Given the description of an element on the screen output the (x, y) to click on. 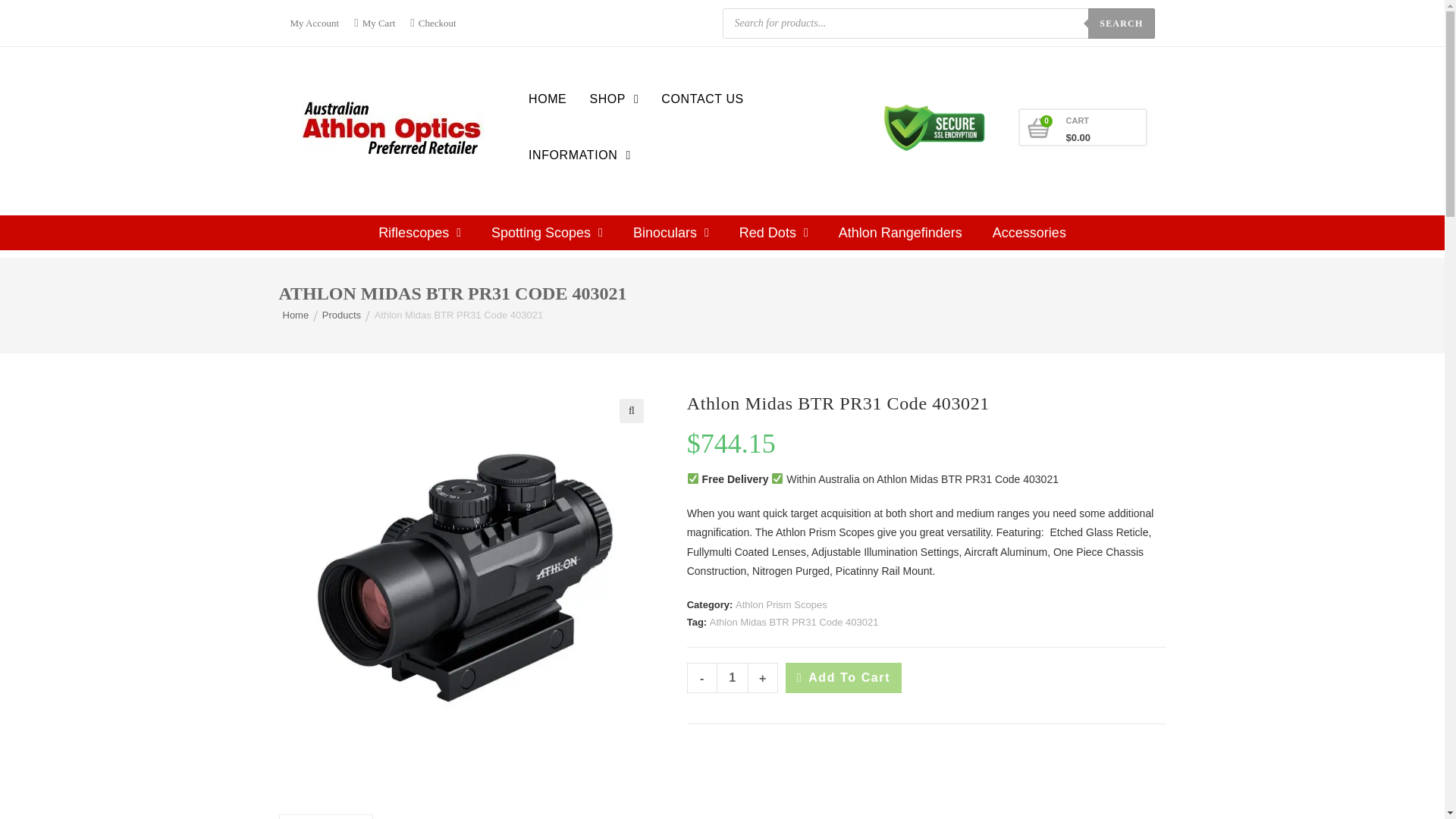
1 (732, 677)
CONTACT US (702, 99)
SEARCH (1120, 22)
SHOP (613, 99)
HOME (547, 99)
My Cart (374, 22)
My Account (317, 22)
Checkout (433, 22)
